Given the description of an element on the screen output the (x, y) to click on. 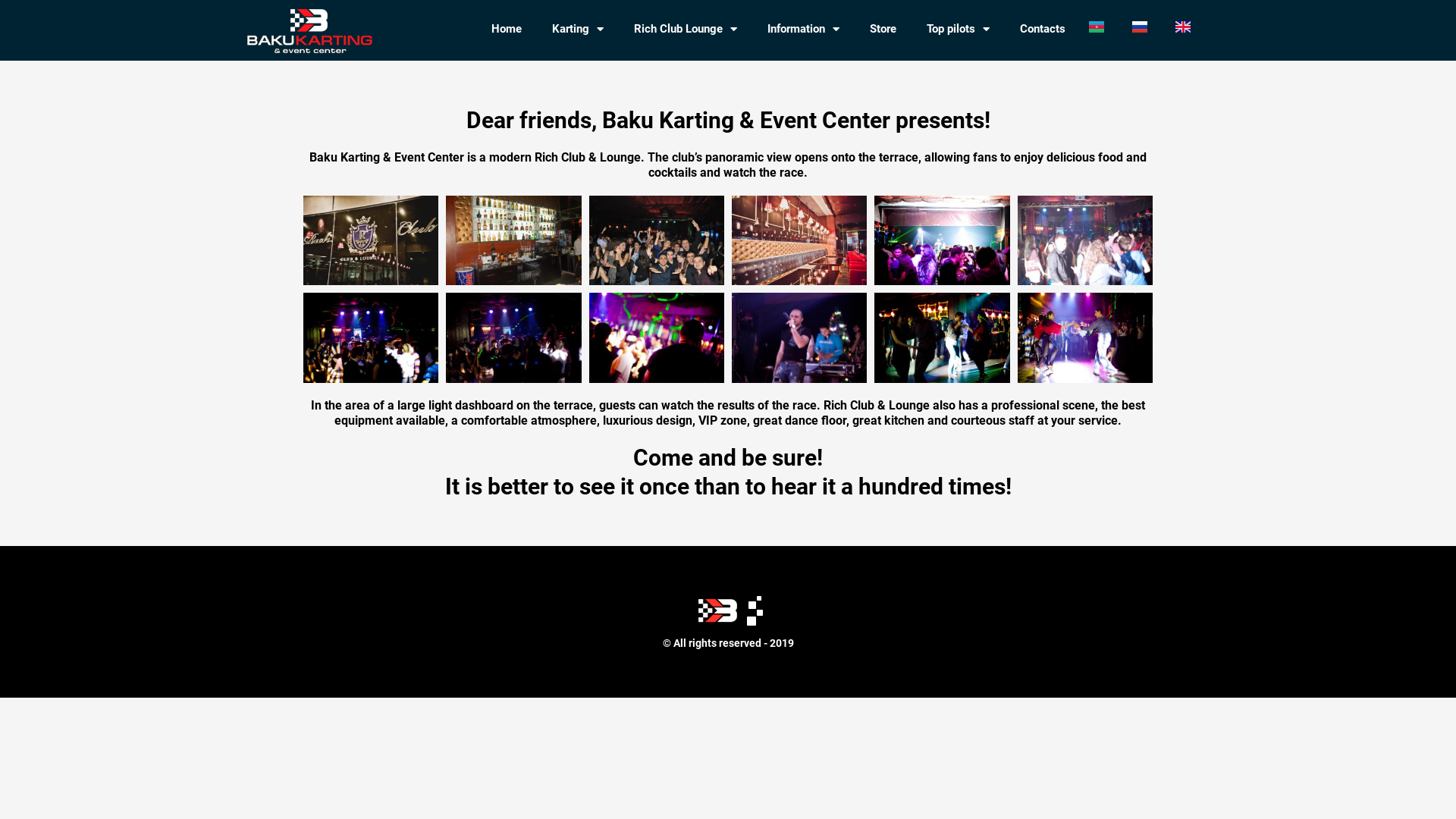
Contacts Element type: text (1042, 28)
Rich Club Lounge Element type: text (685, 28)
Information Element type: text (803, 28)
Top pilots Element type: text (957, 28)
Karting Element type: text (577, 28)
Store Element type: text (882, 28)
Home Element type: text (506, 28)
